Given the description of an element on the screen output the (x, y) to click on. 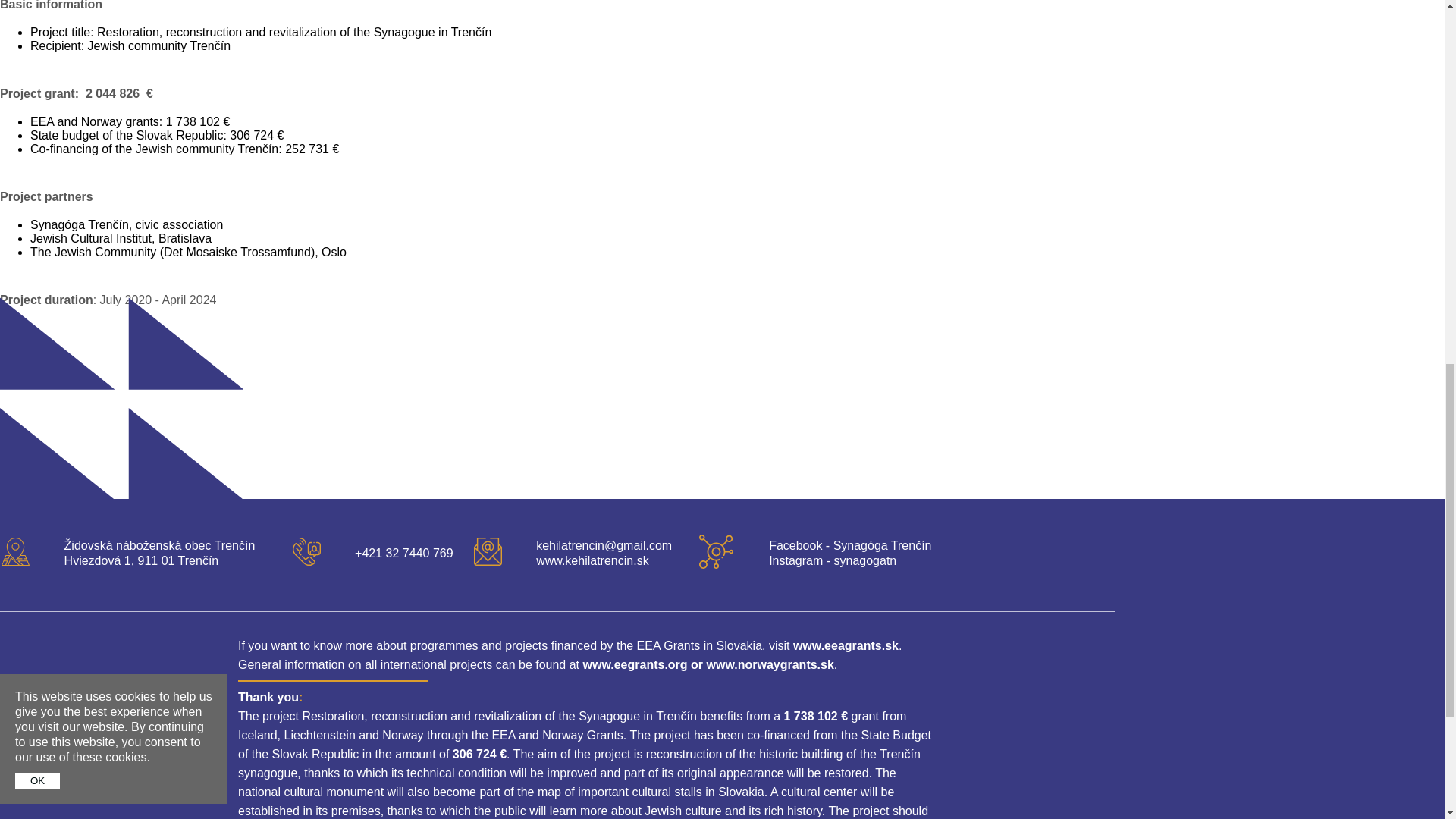
www.eeagrants.sk (845, 645)
www.norwaygrants.sk (770, 664)
www.eegrants.org (634, 664)
synagogatn (865, 560)
www.kehilatrencin.sk (592, 560)
